Given the description of an element on the screen output the (x, y) to click on. 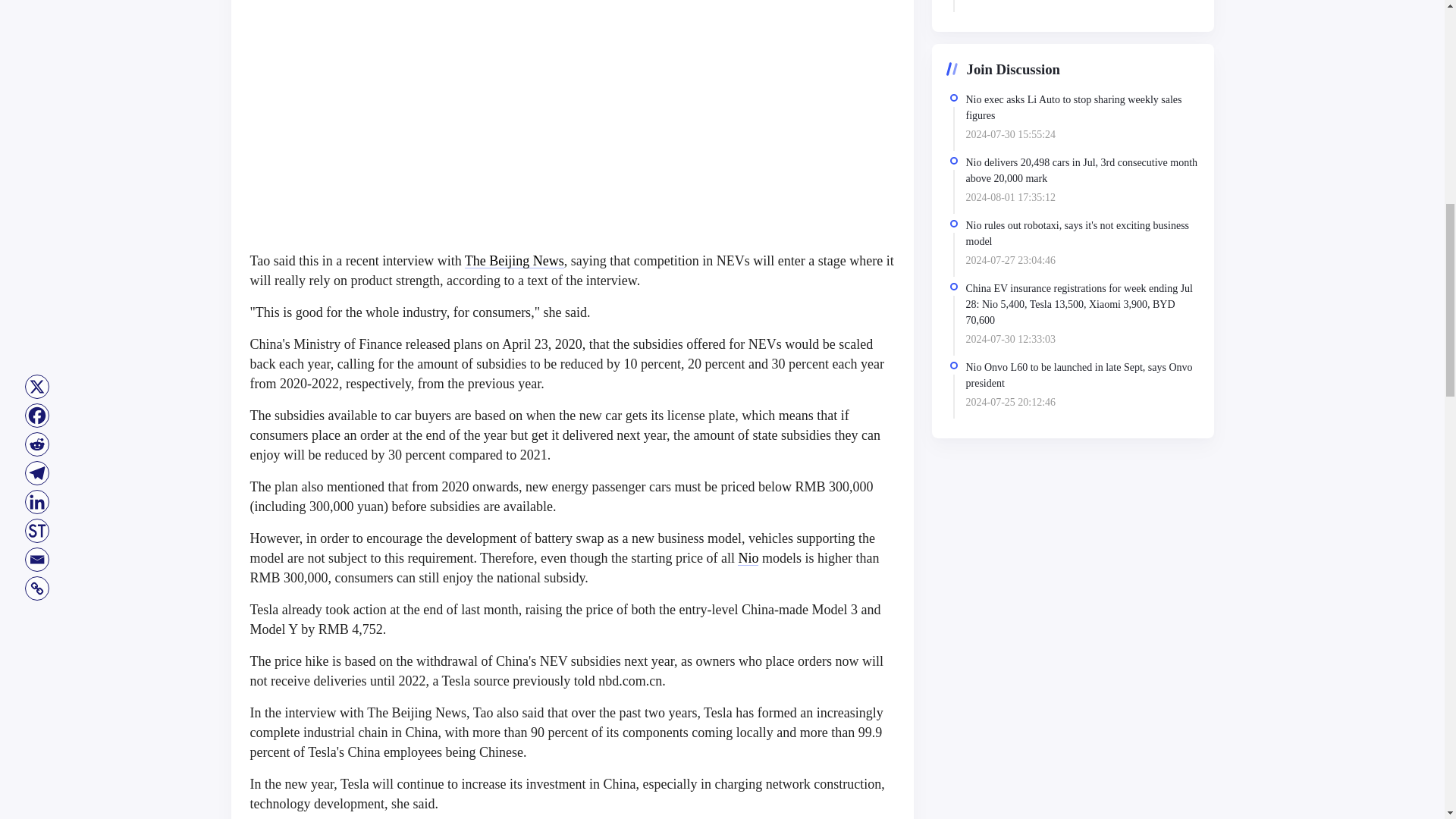
The Beijing News (514, 260)
Nio (748, 557)
